Given the description of an element on the screen output the (x, y) to click on. 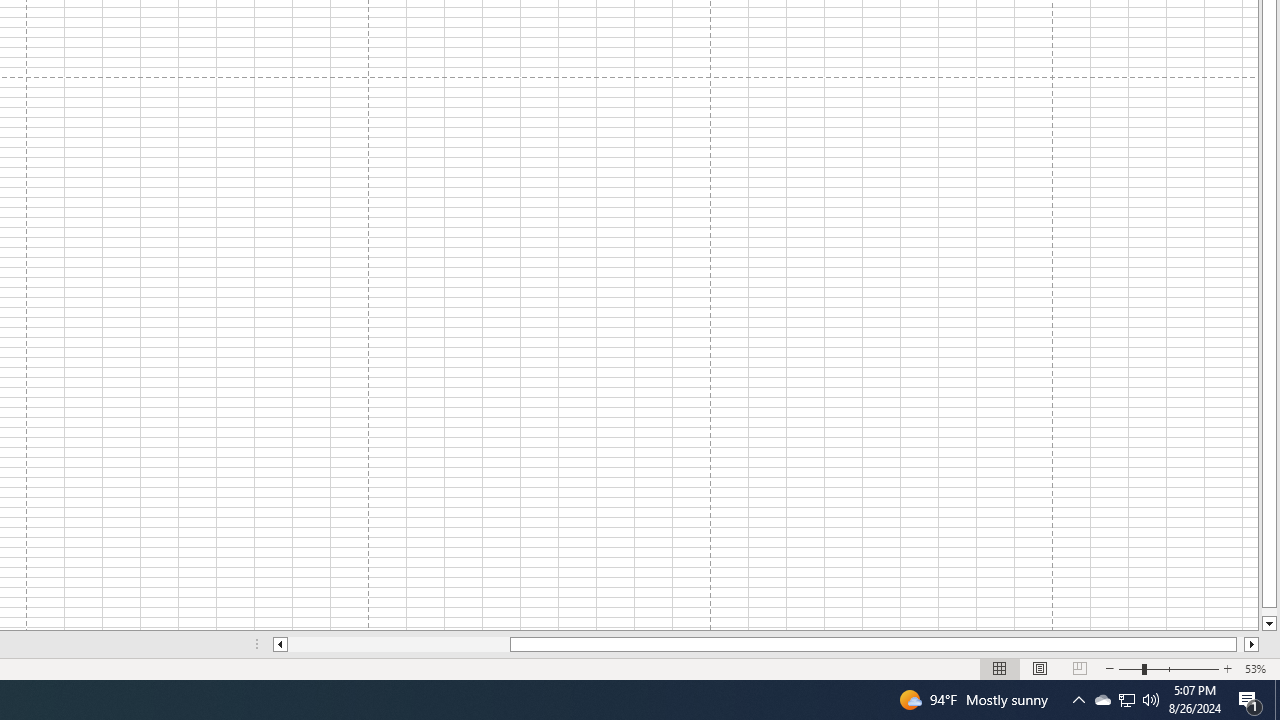
Page left (398, 644)
